Given the description of an element on the screen output the (x, y) to click on. 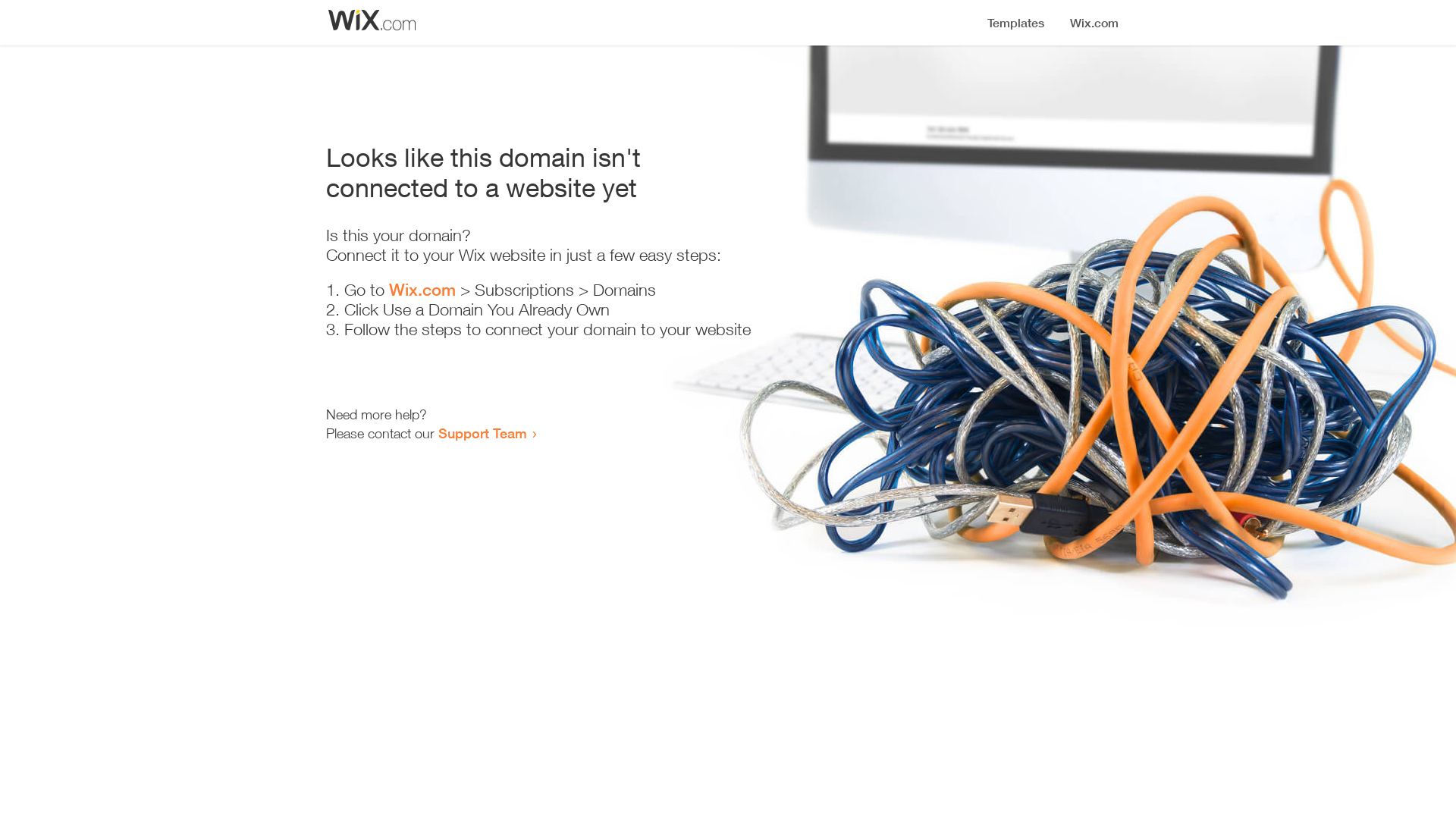
Support Team Element type: text (482, 432)
Wix.com Element type: text (422, 289)
